Given the description of an element on the screen output the (x, y) to click on. 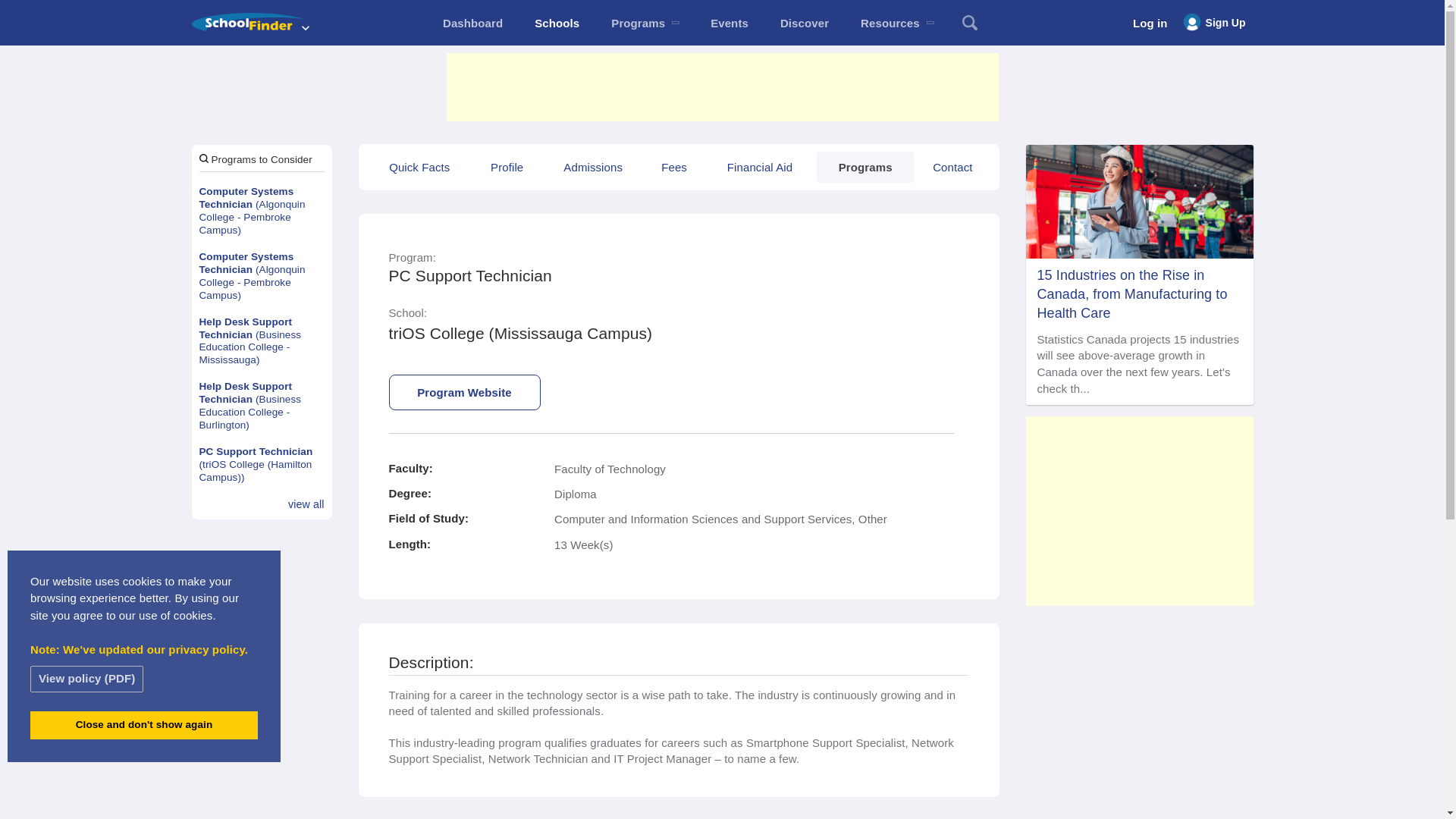
Quick Facts (419, 166)
Resources (896, 22)
Advertisement (1138, 511)
Fees (674, 166)
Financial Aid (759, 166)
Events (729, 22)
Schools (556, 22)
Discover (804, 22)
Advertisement (721, 87)
Profile (506, 166)
Sign Up (1213, 22)
Programs (644, 22)
Events (729, 22)
Admissions (592, 166)
Close and don't show again (143, 725)
